Given the description of an element on the screen output the (x, y) to click on. 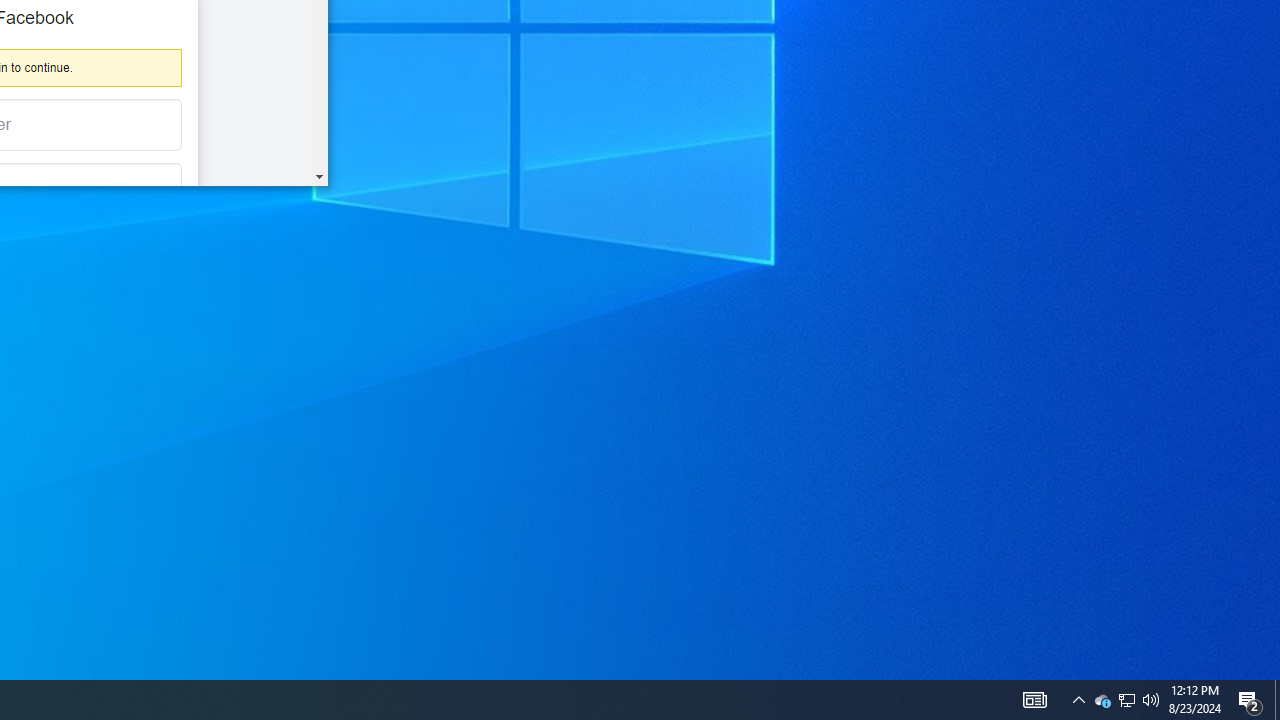
Q2790: 100% (1102, 699)
Action Center, 2 new notifications (1151, 699)
Show desktop (1126, 699)
User Promoted Notification Area (1250, 699)
AutomationID: 4105 (1277, 699)
Notification Chevron (1126, 699)
